Given the description of an element on the screen output the (x, y) to click on. 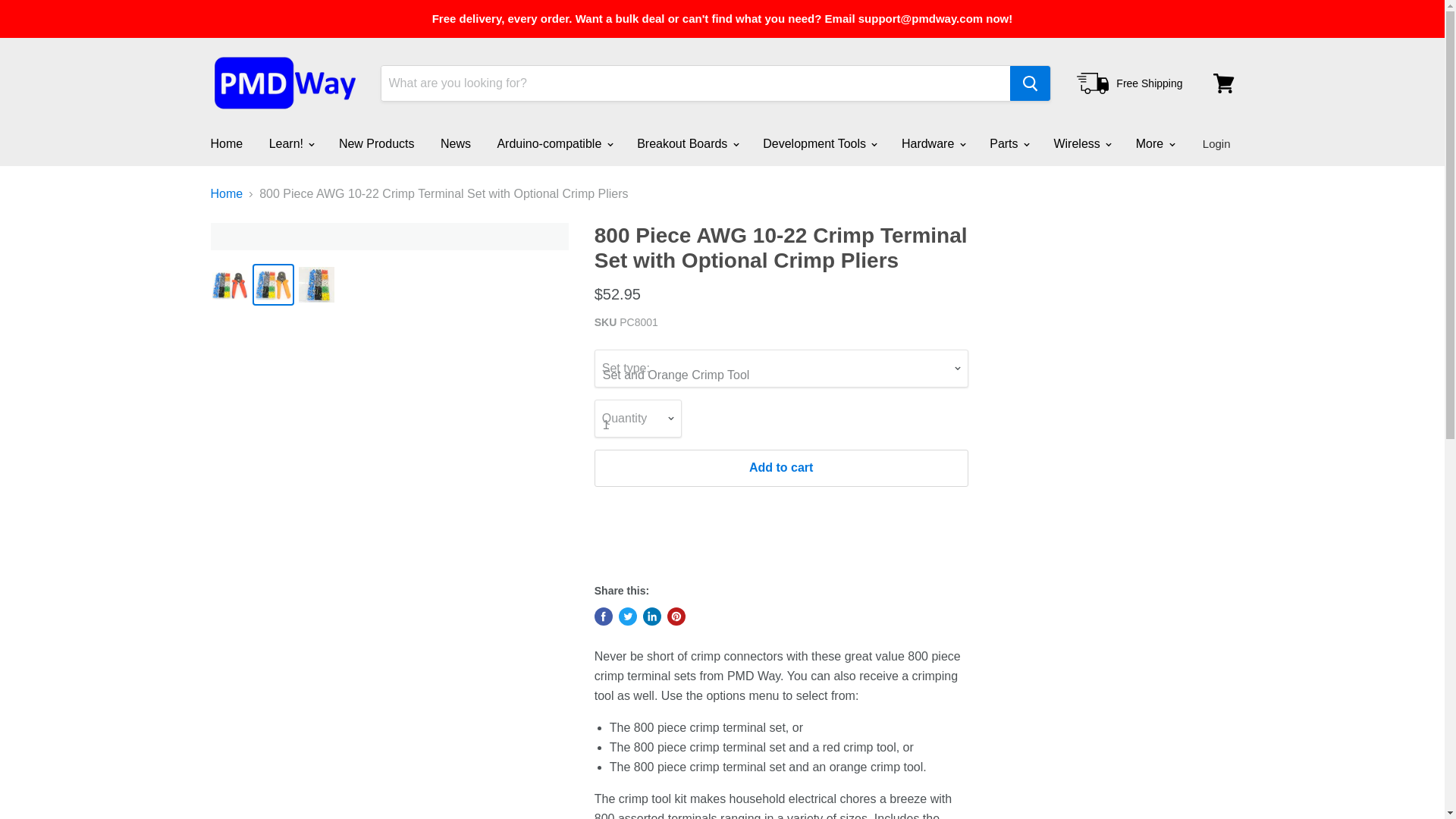
Learn! (290, 143)
Arduino-compatible (552, 143)
New Products (376, 143)
View cart (1223, 83)
Home (225, 143)
News (455, 143)
